Given the description of an element on the screen output the (x, y) to click on. 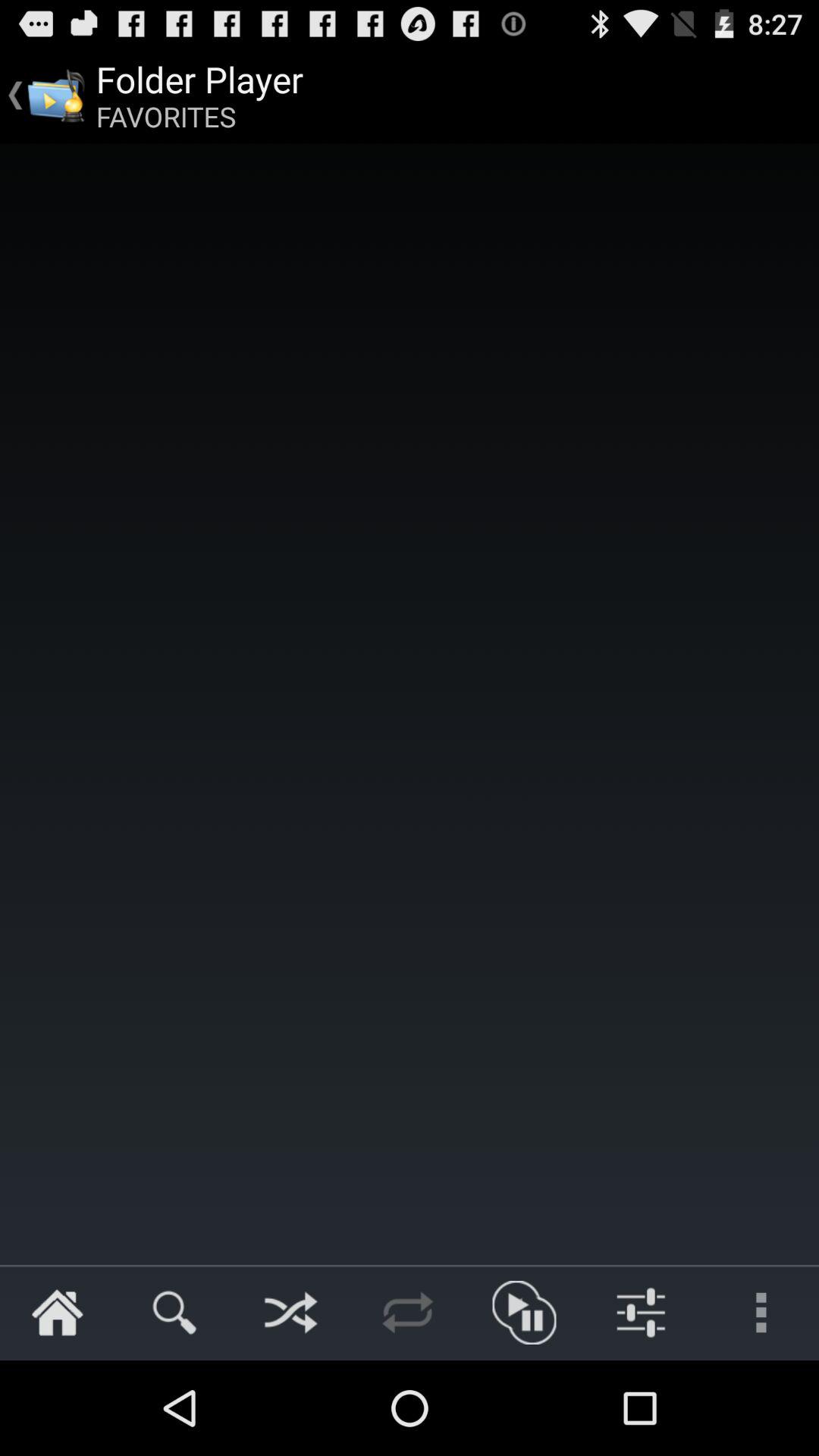
click icon at the center (409, 703)
